Given the description of an element on the screen output the (x, y) to click on. 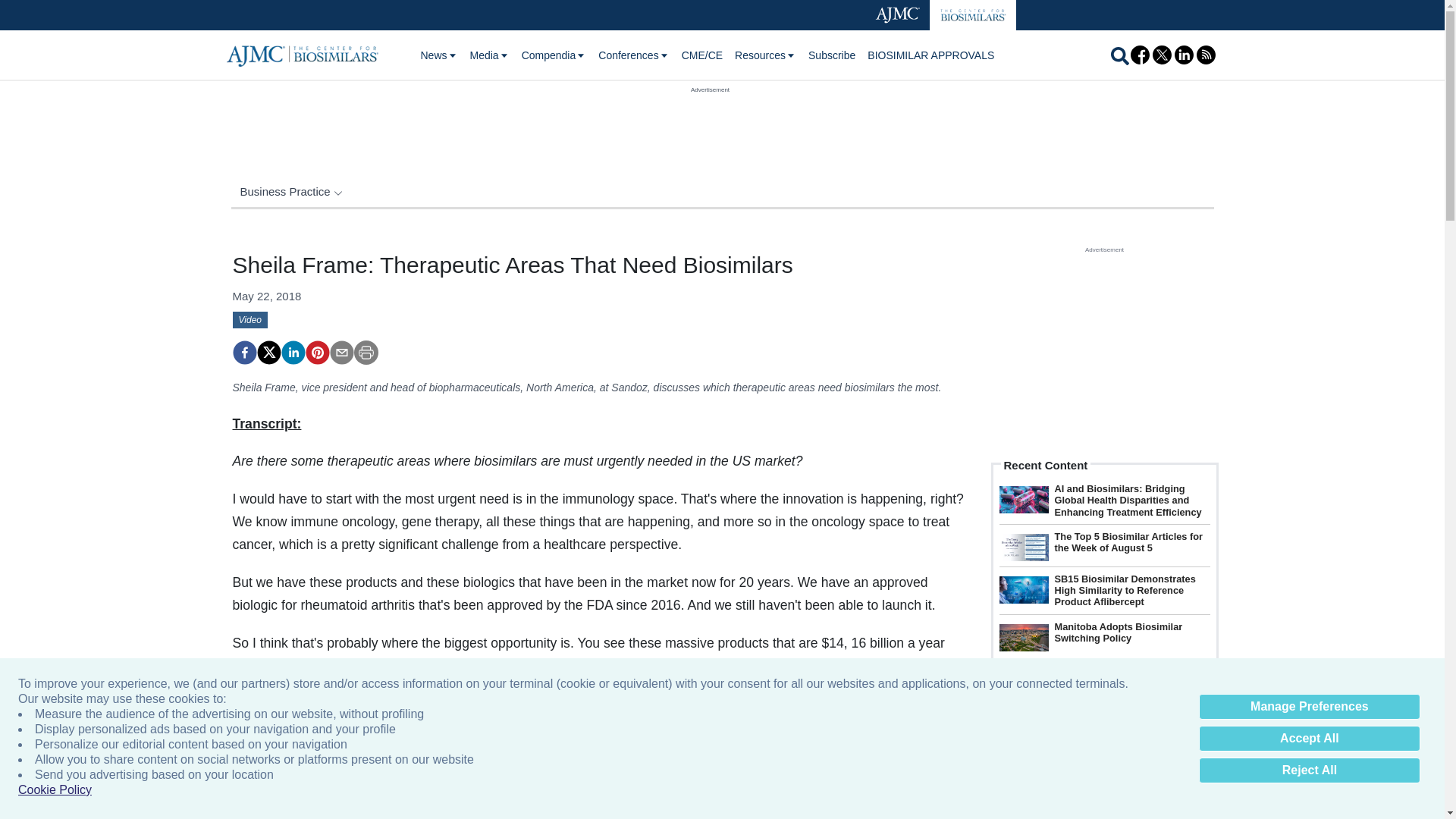
Accept All (1309, 738)
Manage Preferences (1309, 706)
3rd party ad content (709, 128)
Reject All (1309, 769)
Sheila Frame: Therapeutic Areas That Need Biosimilars (243, 351)
Sheila Frame: Therapeutic Areas That Need Biosimilars (316, 351)
Cookie Policy (54, 789)
